Given the description of an element on the screen output the (x, y) to click on. 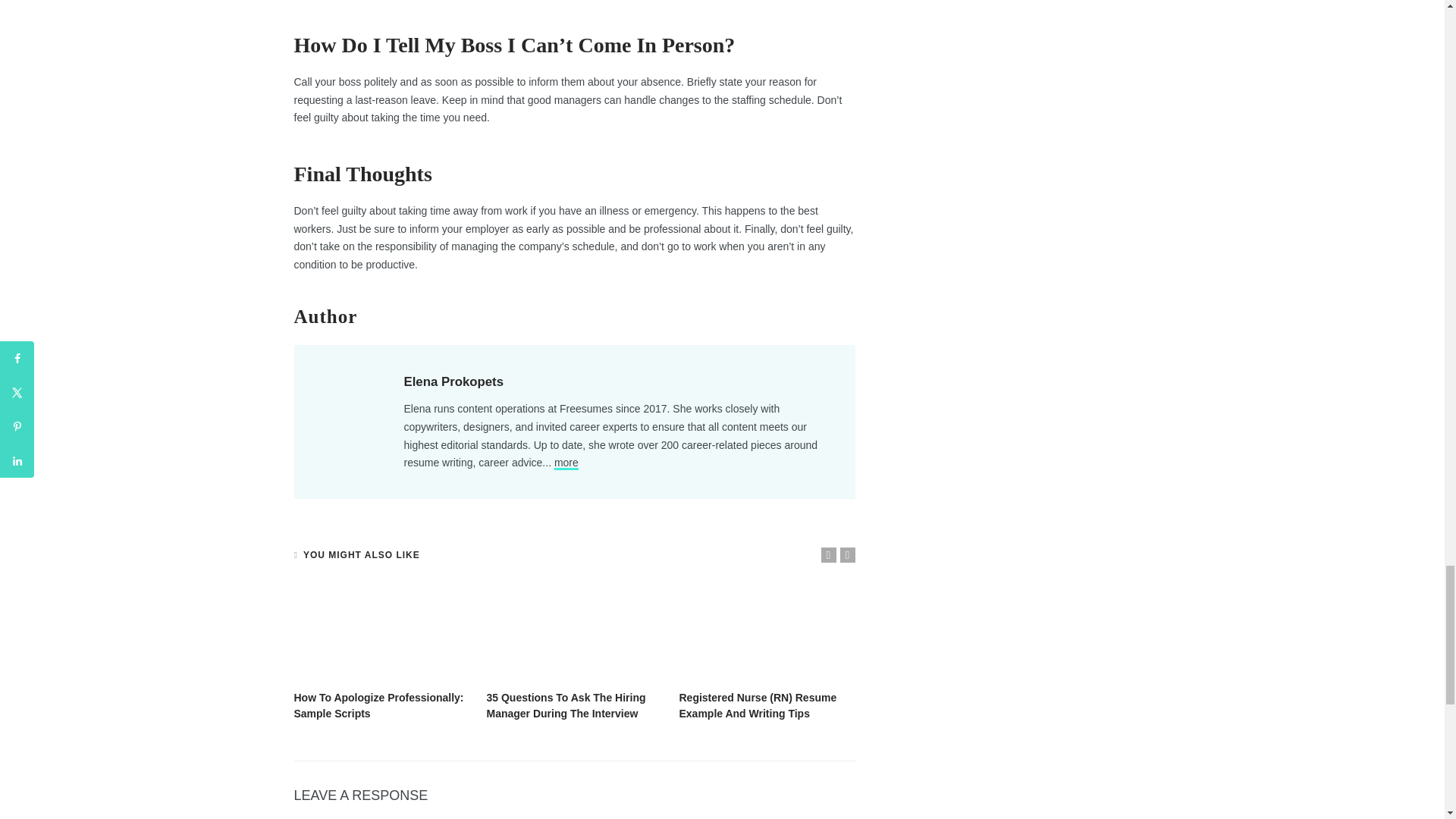
How to Apologize Professionally: Sample Scripts (379, 705)
35 Questions to Ask the Hiring Manager During the Interview (566, 705)
35 Questions to Ask the Hiring Manager During the Interview (574, 632)
How to Apologize Professionally: Sample Scripts (382, 632)
